Given the description of an element on the screen output the (x, y) to click on. 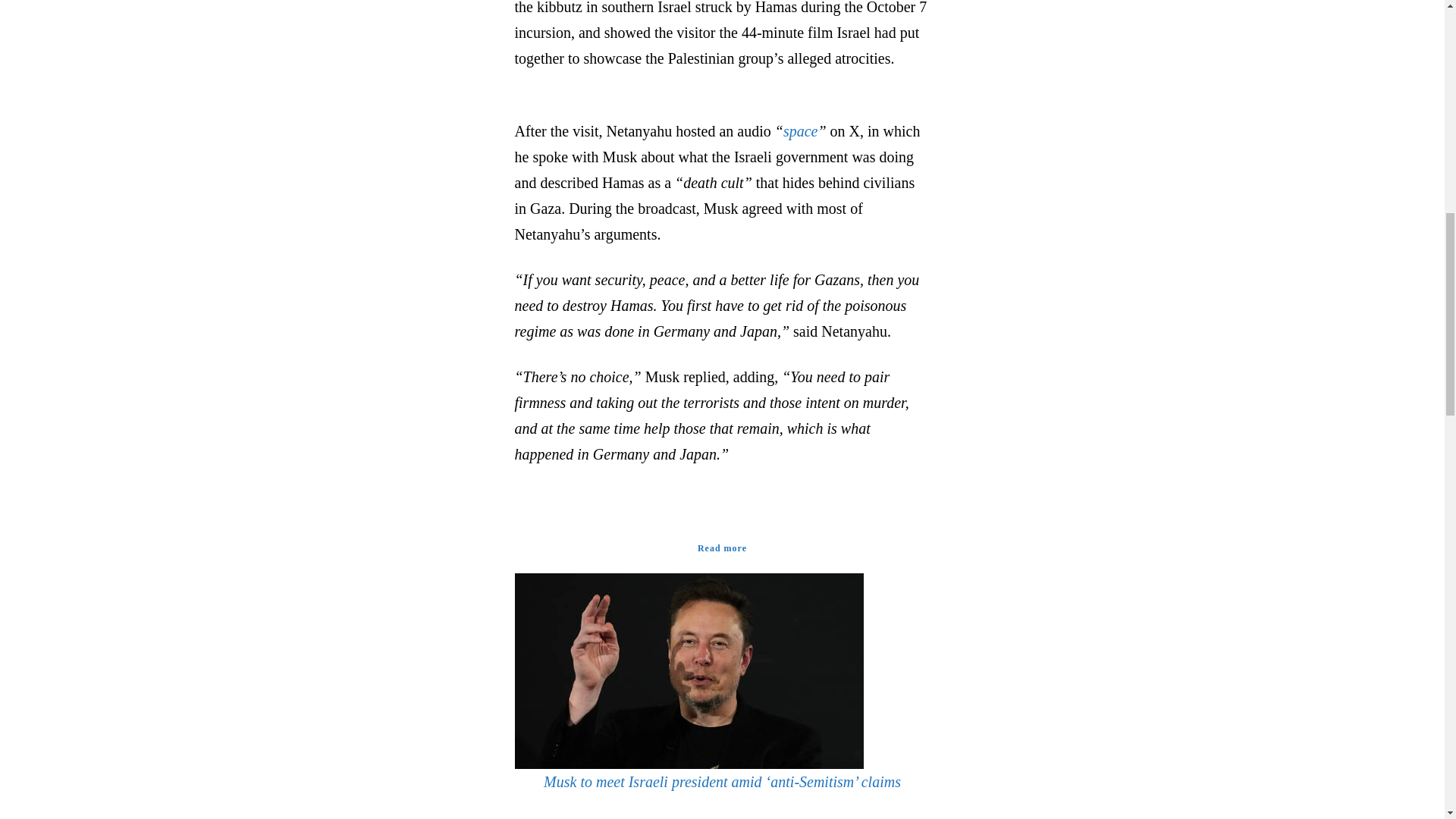
Advertisement (1061, 47)
Advertisement (382, 47)
